Given the description of an element on the screen output the (x, y) to click on. 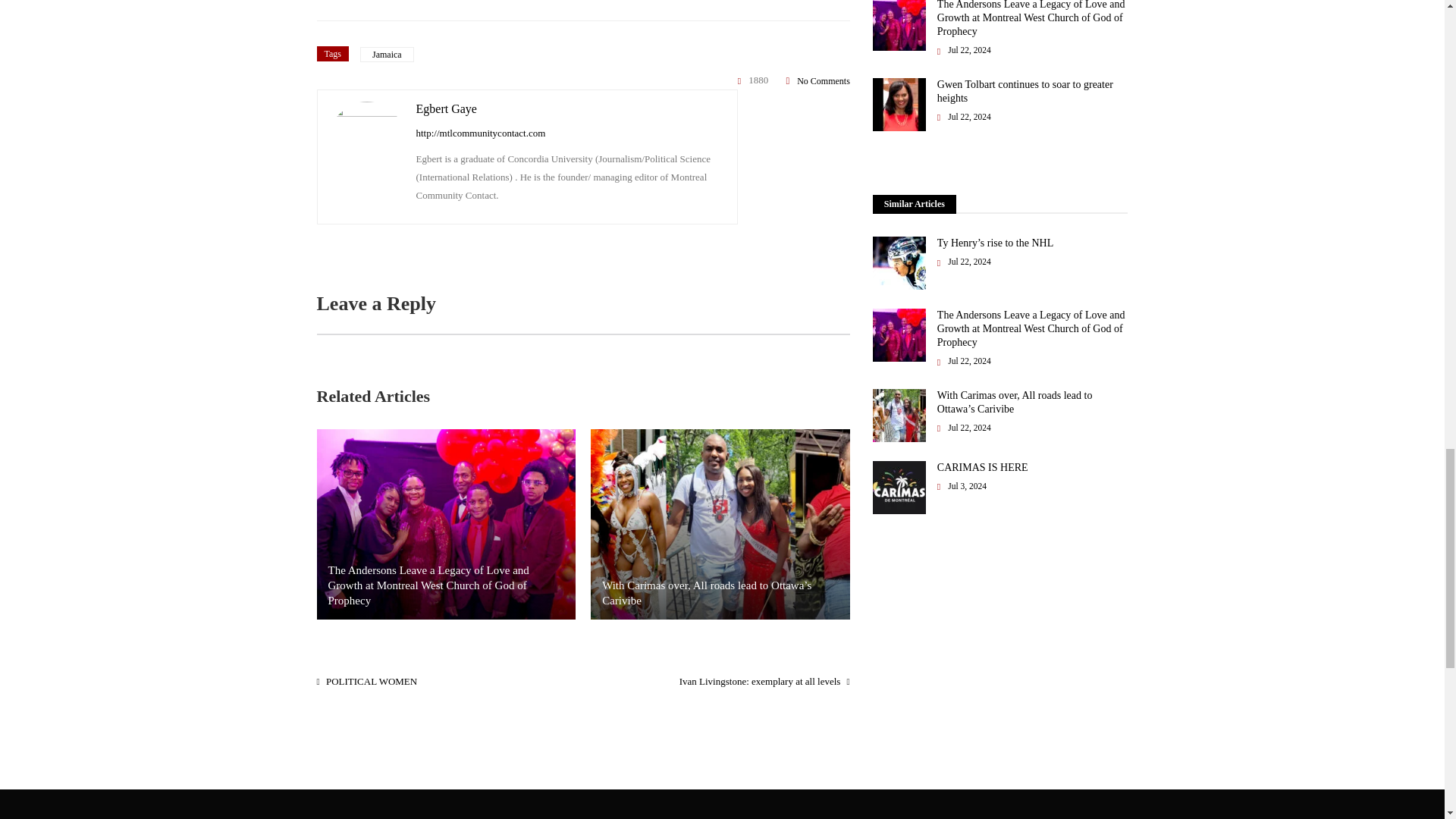
Jamaica (386, 54)
